Given the description of an element on the screen output the (x, y) to click on. 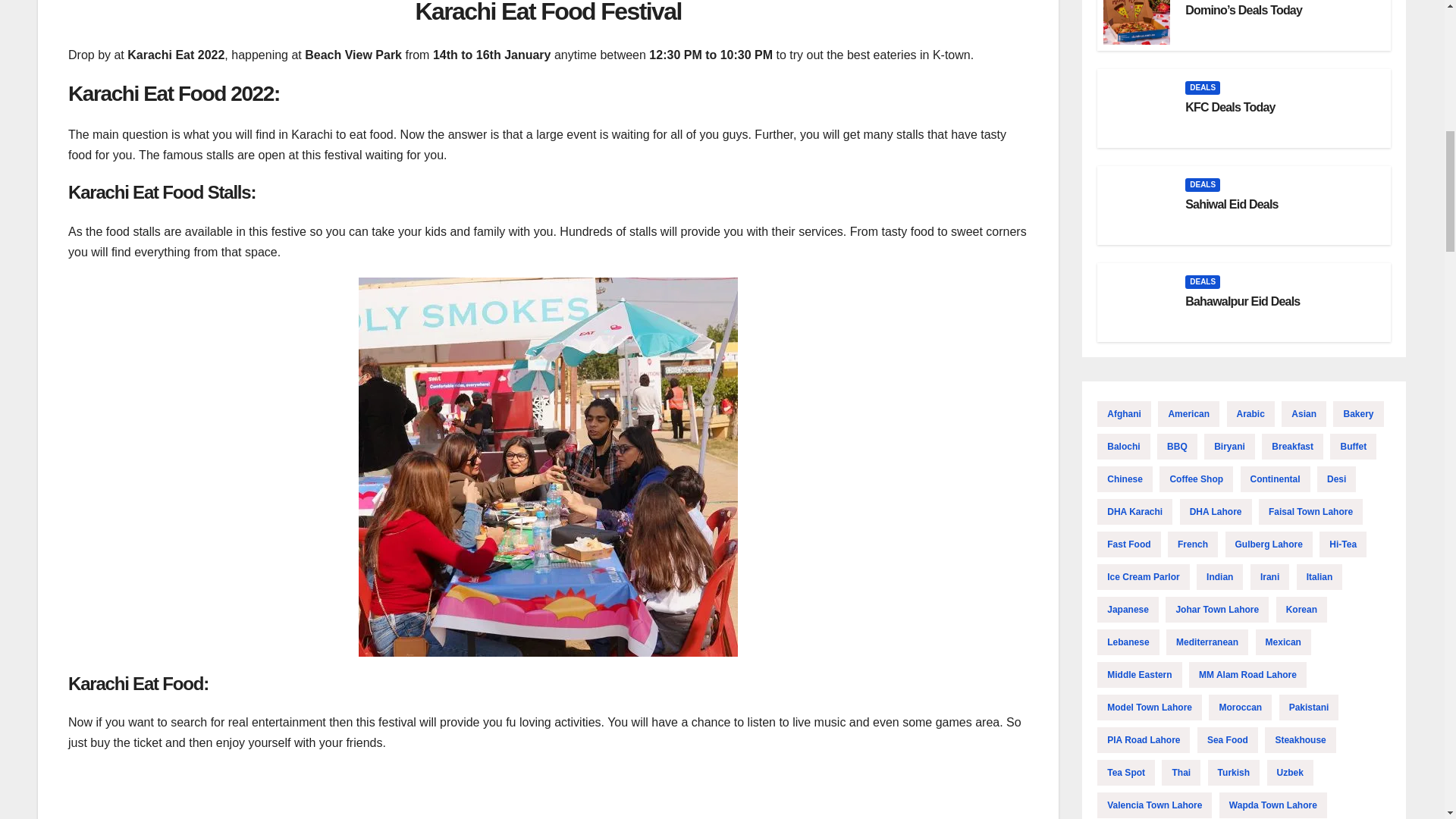
Advertisement (548, 793)
